Given the description of an element on the screen output the (x, y) to click on. 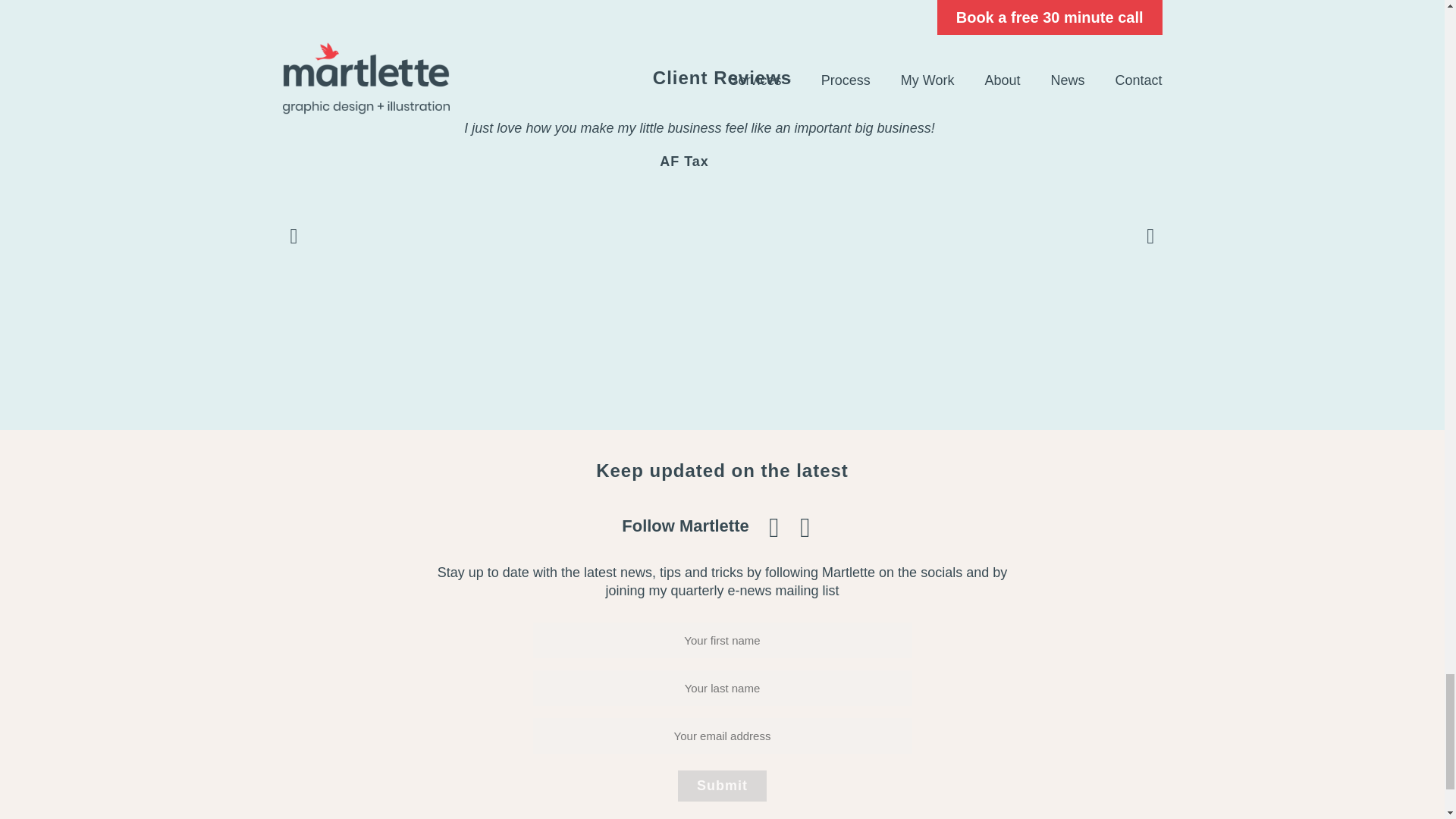
Submit (722, 785)
Submit (722, 785)
